Given the description of an element on the screen output the (x, y) to click on. 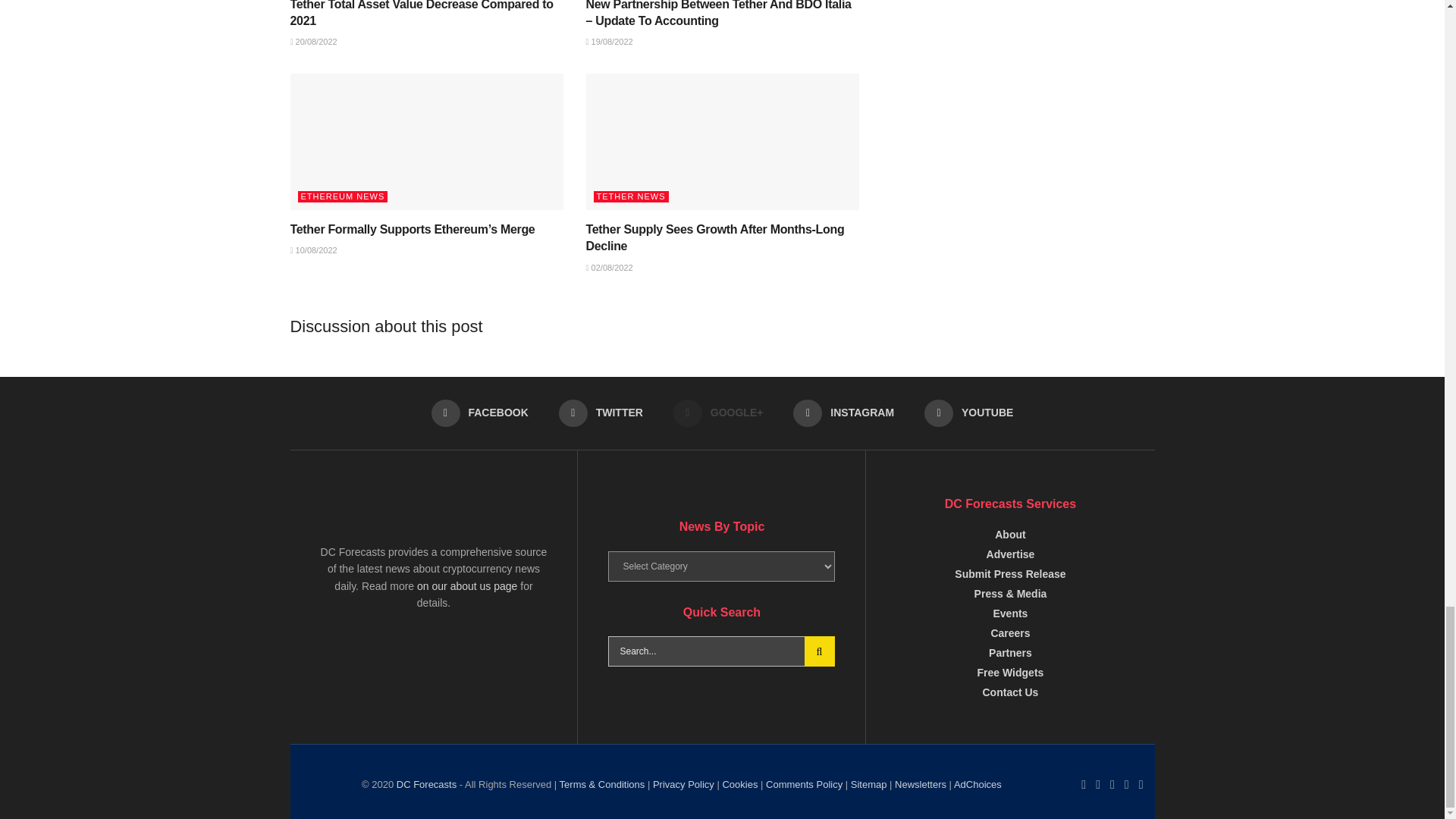
Newsletters (977, 784)
Privacy Policy  (683, 784)
Sitemap (868, 784)
Cookies  (739, 784)
Comments  Policy (804, 784)
Newsletters (920, 784)
